Given the description of an element on the screen output the (x, y) to click on. 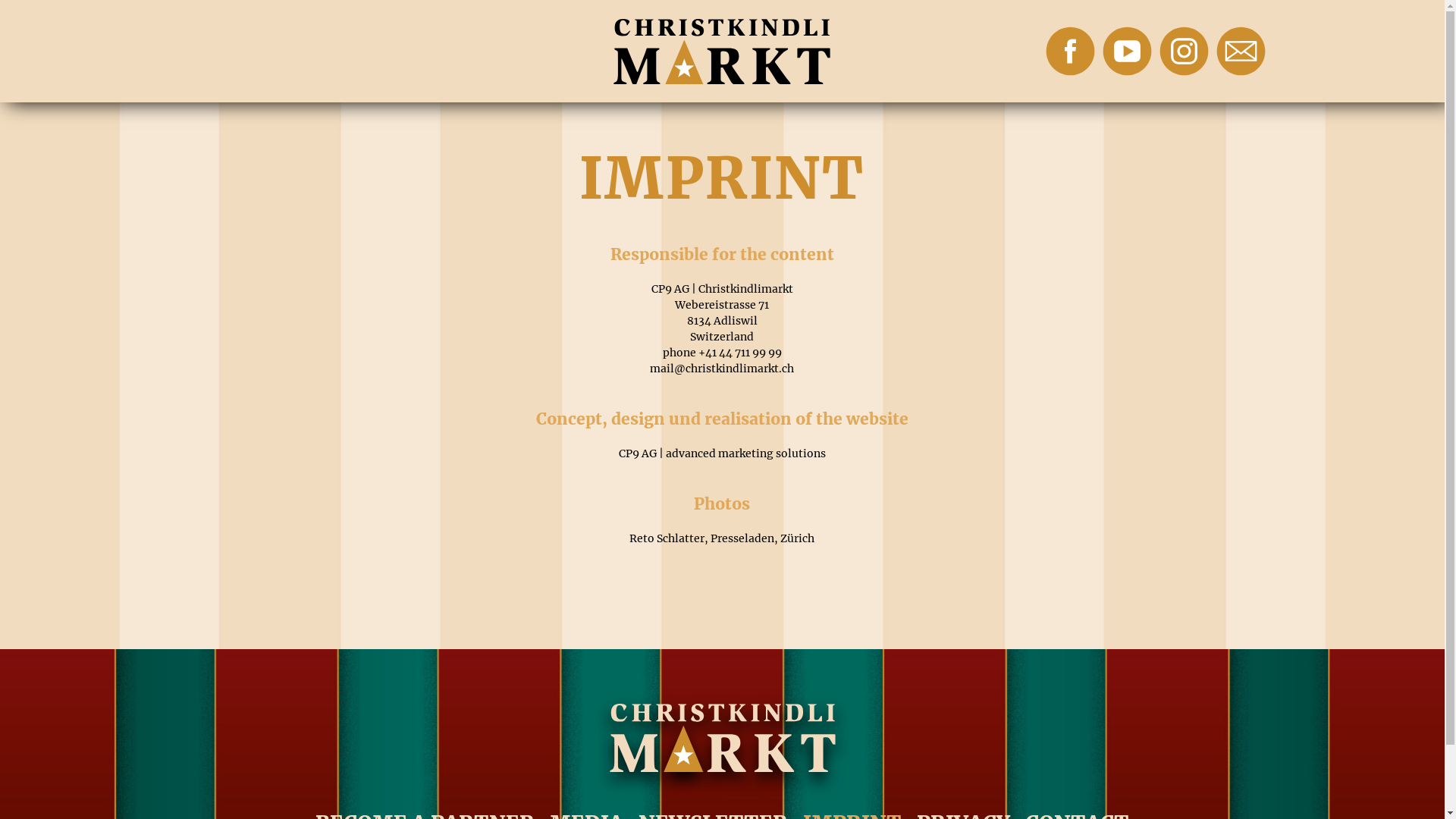
cm_logo_navigation_2022 Element type: hover (721, 50)
mail@christkindlimarkt.ch Element type: text (721, 368)
